Given the description of an element on the screen output the (x, y) to click on. 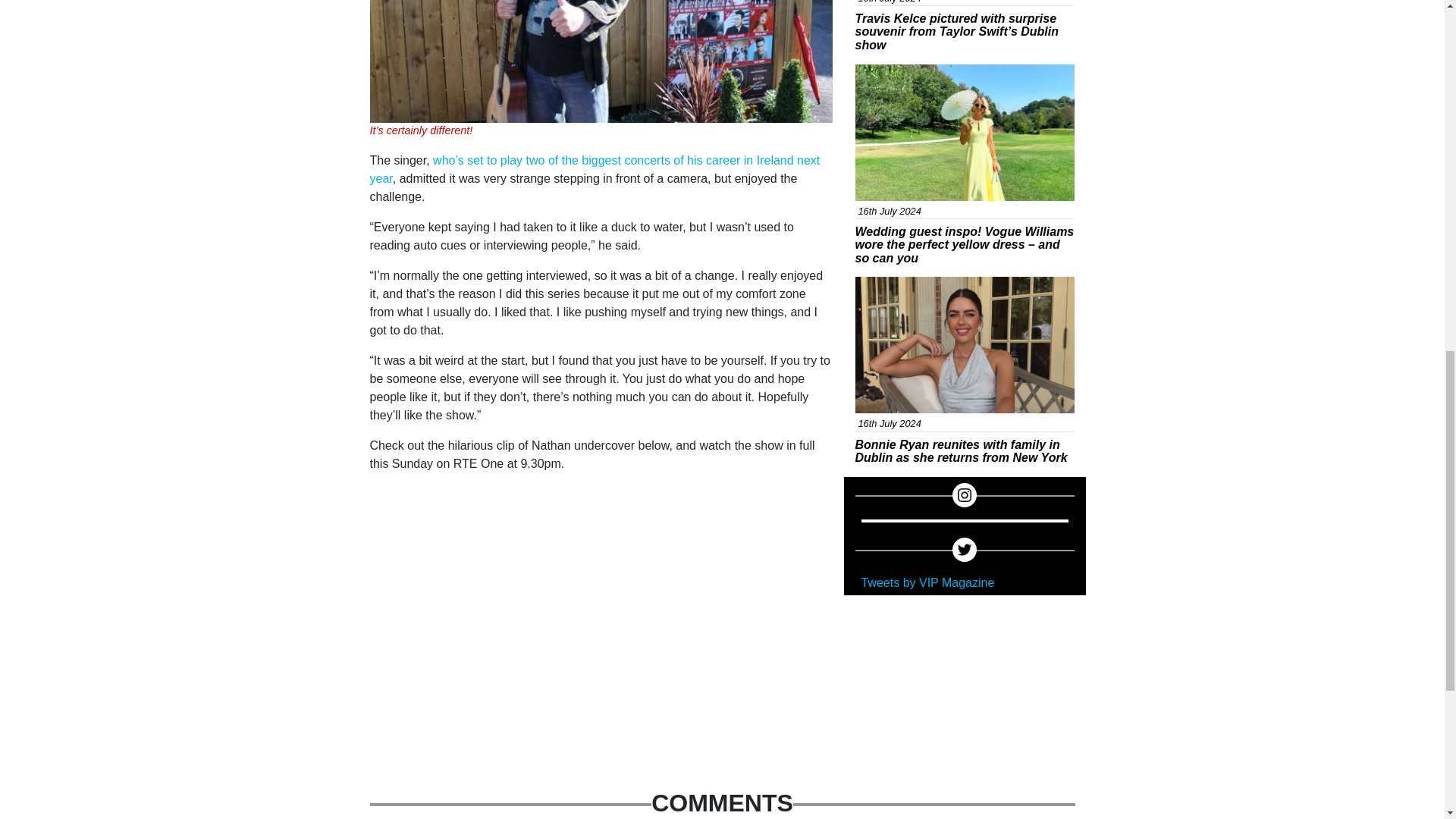
Tweets by VIP Magazine (927, 582)
News (881, 285)
Featured (889, 72)
